Given the description of an element on the screen output the (x, y) to click on. 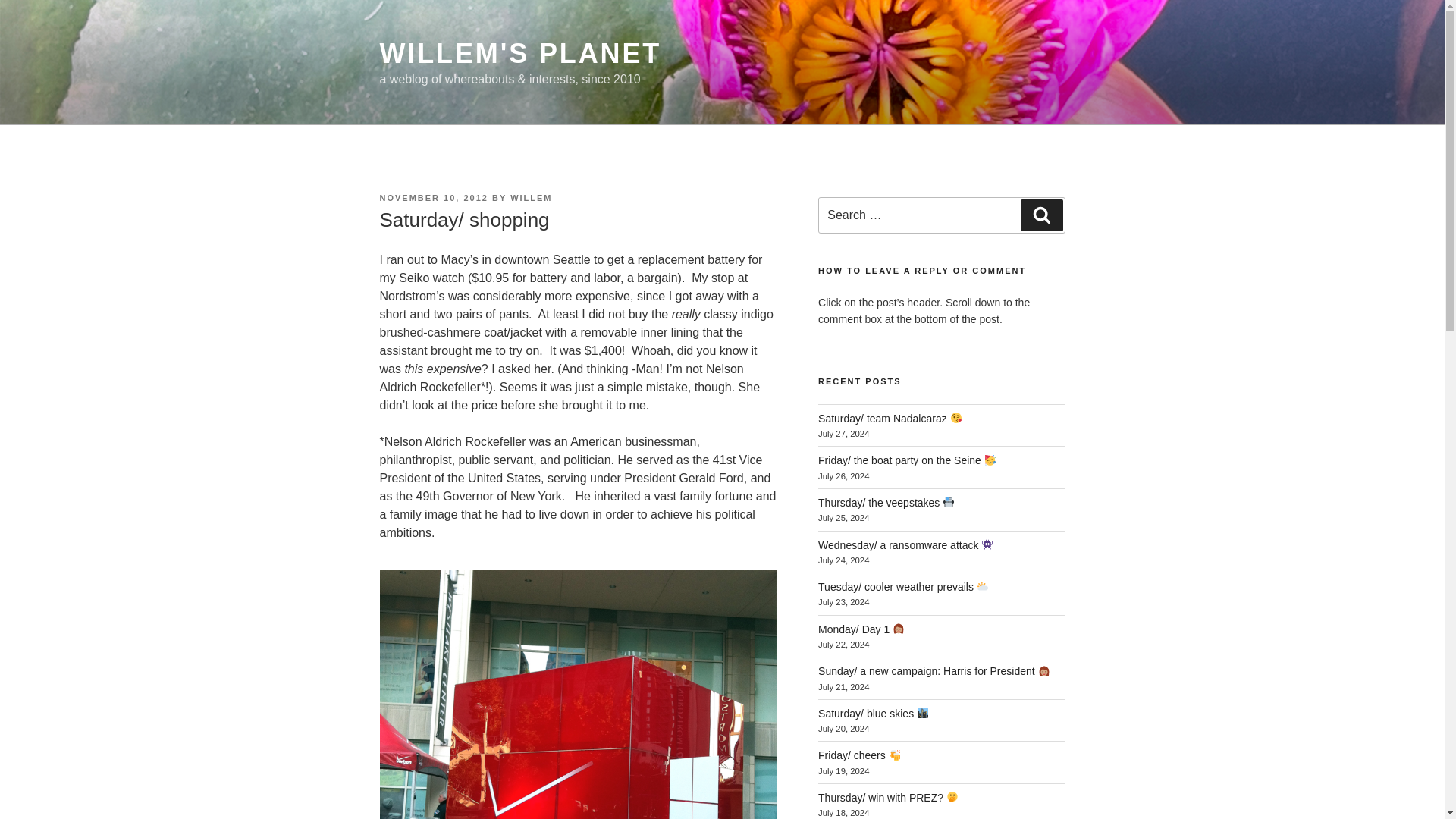
NOVEMBER 10, 2012 (432, 197)
Search (1041, 214)
WILLEM'S PLANET (519, 52)
WILLEM (531, 197)
